Given the description of an element on the screen output the (x, y) to click on. 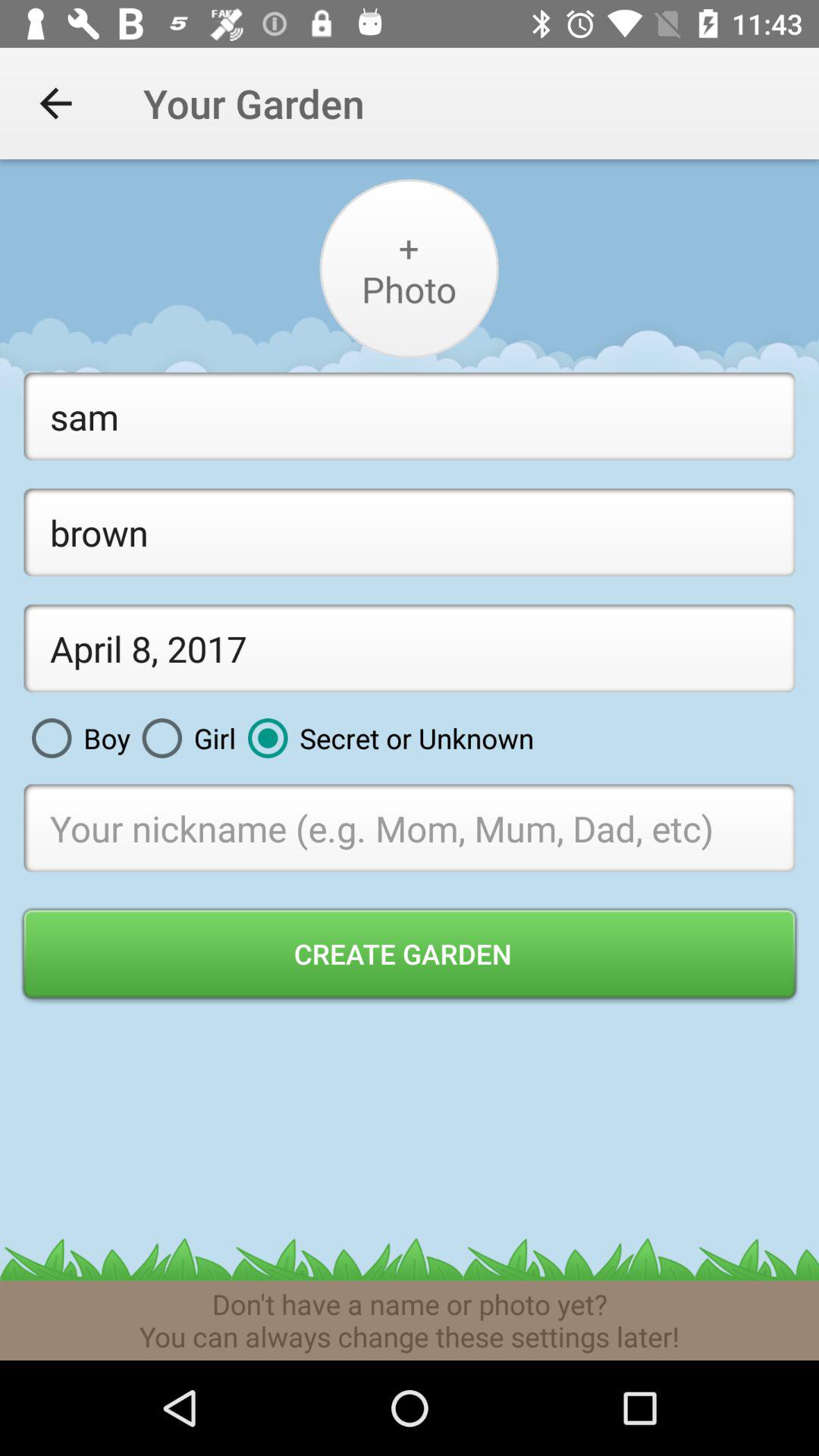
add photo page (408, 268)
